Given the description of an element on the screen output the (x, y) to click on. 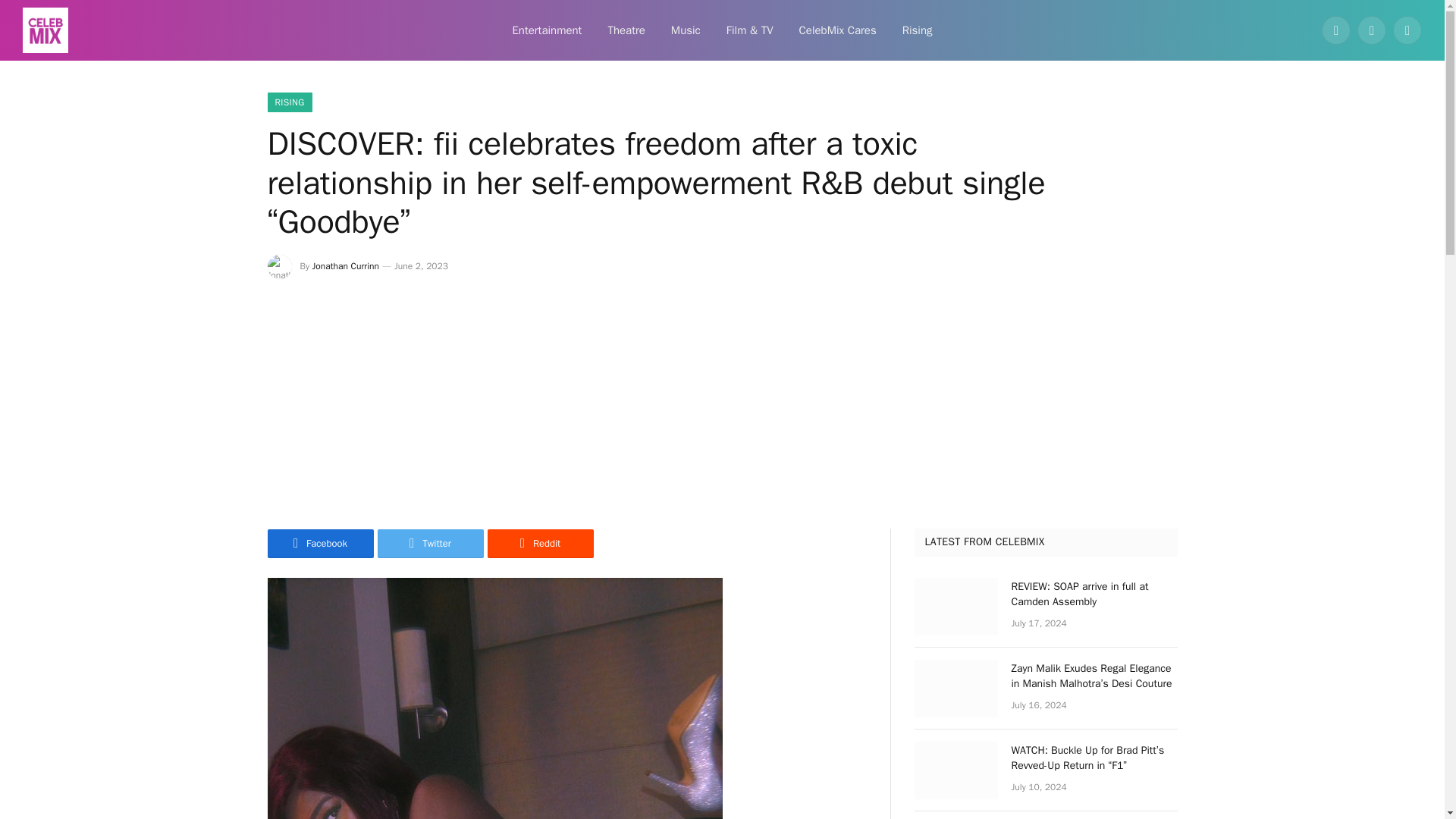
Posts by Jonathan Currinn (345, 265)
Share on Reddit (539, 543)
Facebook (319, 543)
RISING (288, 102)
Share on Facebook (319, 543)
Instagram (1407, 30)
Entertainment (546, 30)
Rising (916, 30)
Jonathan Currinn (345, 265)
Theatre (626, 30)
CelebMix Cares (837, 30)
Reddit (539, 543)
Facebook (1336, 30)
Twitter (430, 543)
Music (685, 30)
